Given the description of an element on the screen output the (x, y) to click on. 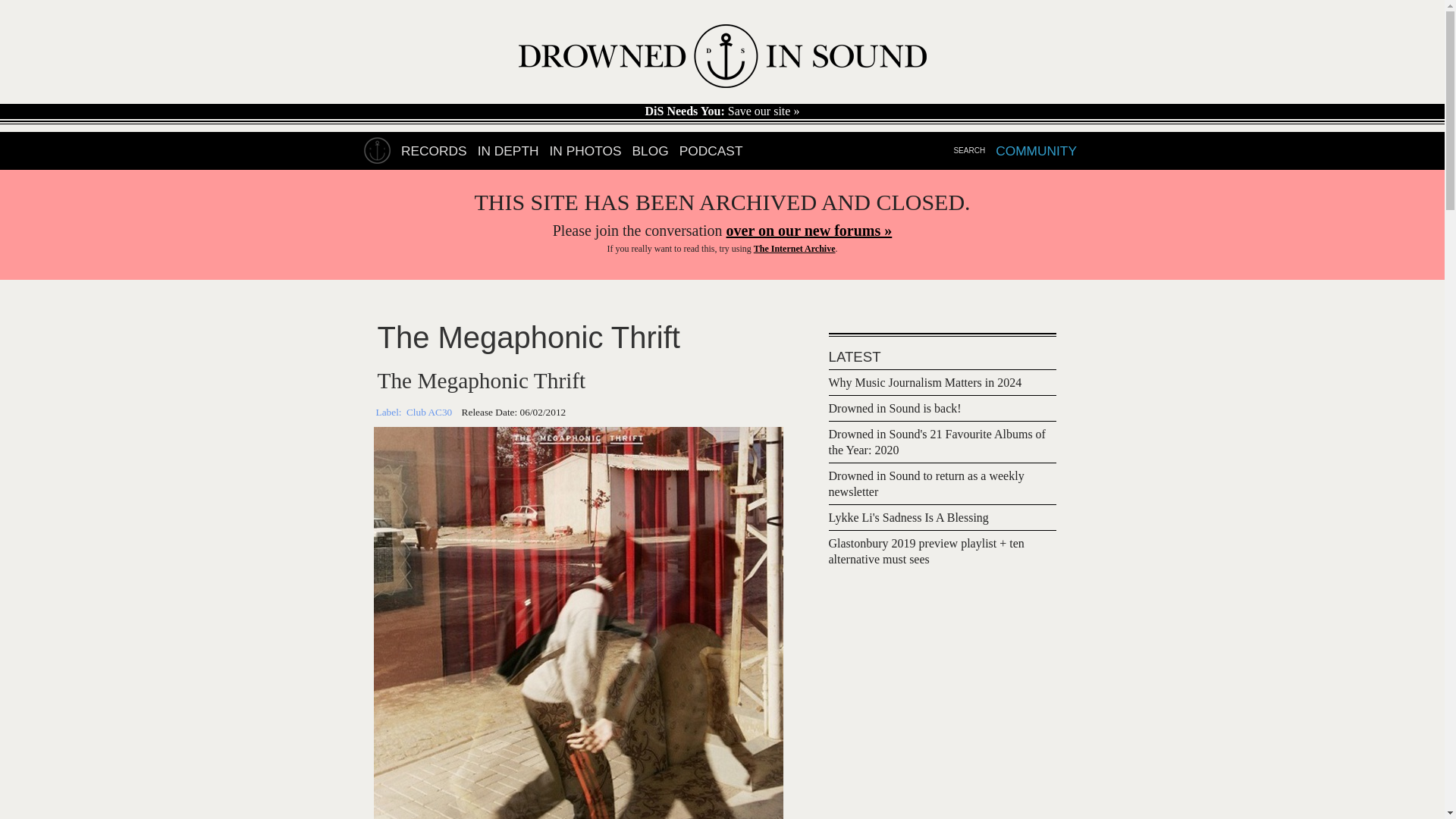
IN DEPTH (507, 150)
The Internet Archive (794, 248)
The Megaphonic Thrift (480, 380)
RECORDS (434, 150)
The Megaphonic Thrift (527, 337)
Drowned in Sound to return as a weekly newsletter (925, 484)
Lykke Li's Sadness Is A Blessing (908, 518)
COMMUNITY (1036, 150)
PODCAST (710, 150)
Why Music Journalism Matters in 2024 (925, 383)
